Given the description of an element on the screen output the (x, y) to click on. 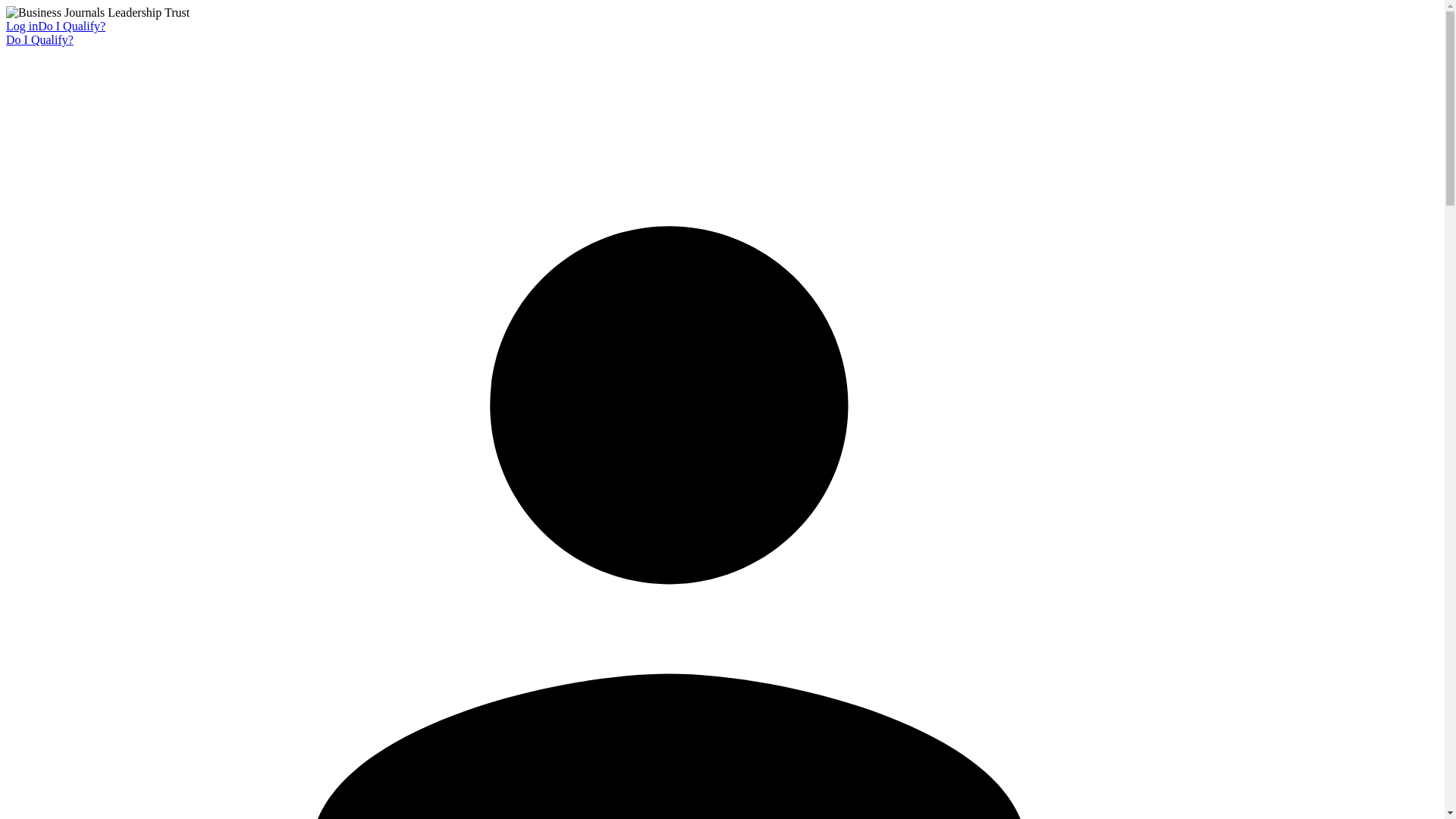
Do I Qualify? (70, 25)
Log in (21, 25)
Do I Qualify? (39, 39)
